Given the description of an element on the screen output the (x, y) to click on. 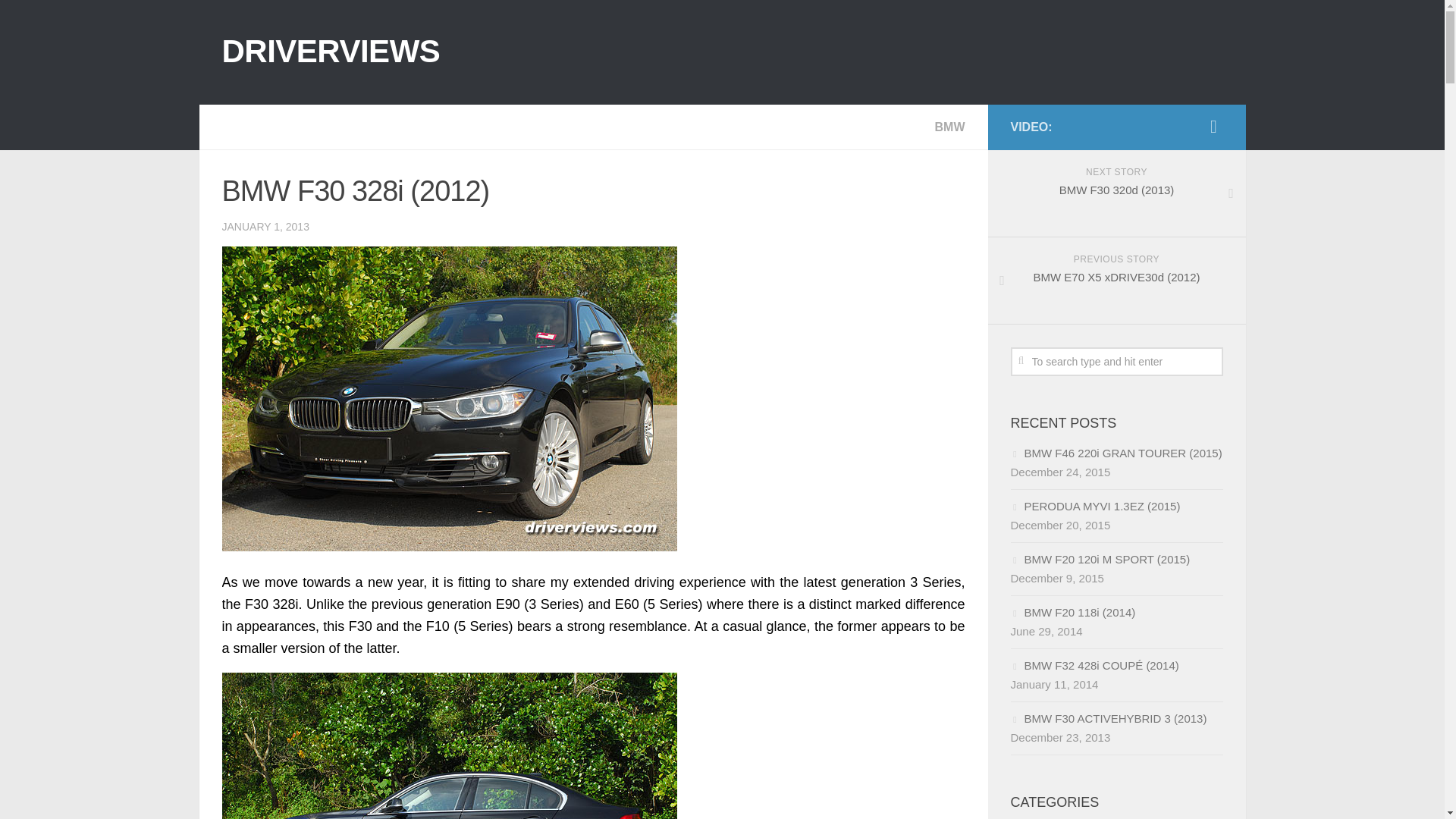
To search type and hit enter (1116, 361)
DRIVERVIEWS (330, 51)
BMW 328i (449, 745)
To search type and hit enter (1116, 361)
BMW (949, 126)
View all posts in BMW (949, 126)
